Given the description of an element on the screen output the (x, y) to click on. 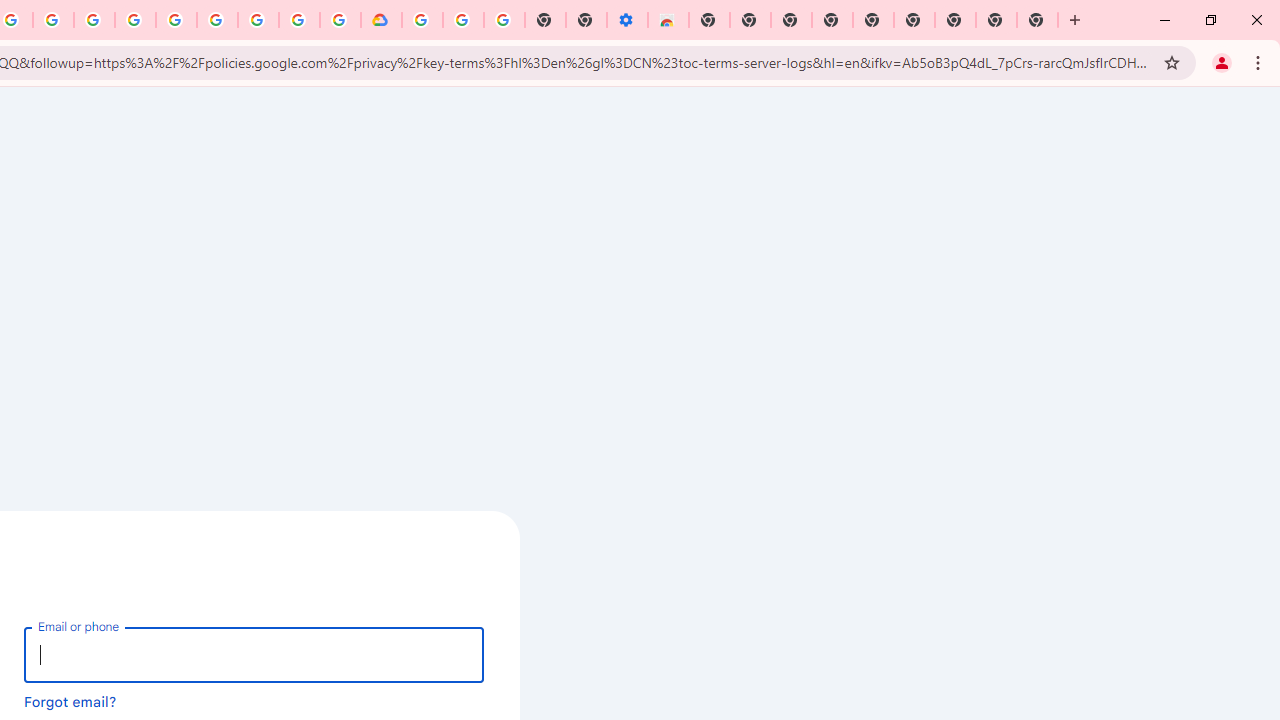
Create your Google Account (299, 20)
Create your Google Account (53, 20)
Ad Settings (135, 20)
Google Account Help (217, 20)
Settings - Accessibility (626, 20)
